Given the description of an element on the screen output the (x, y) to click on. 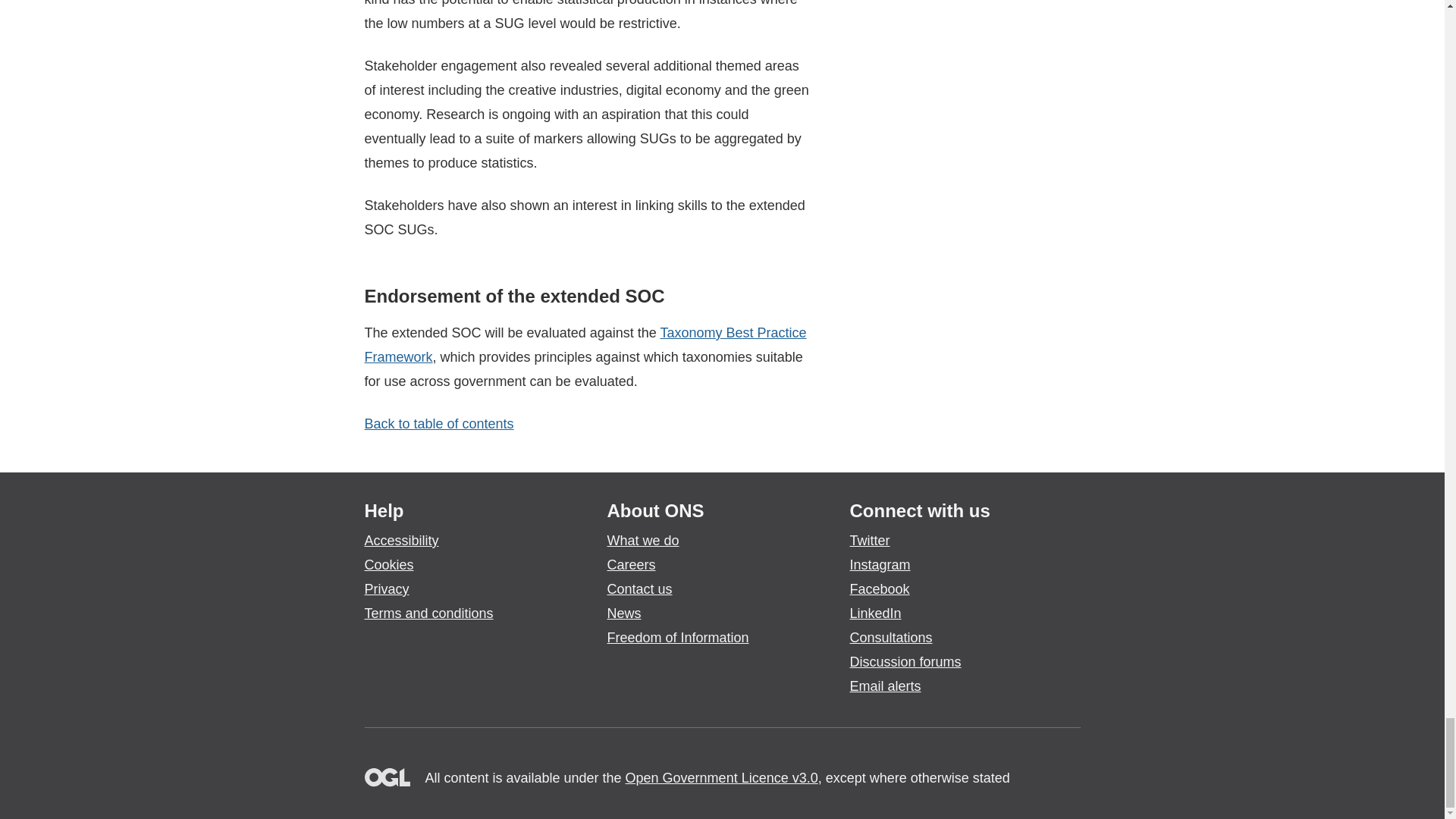
Back to table of contents (438, 423)
